Given the description of an element on the screen output the (x, y) to click on. 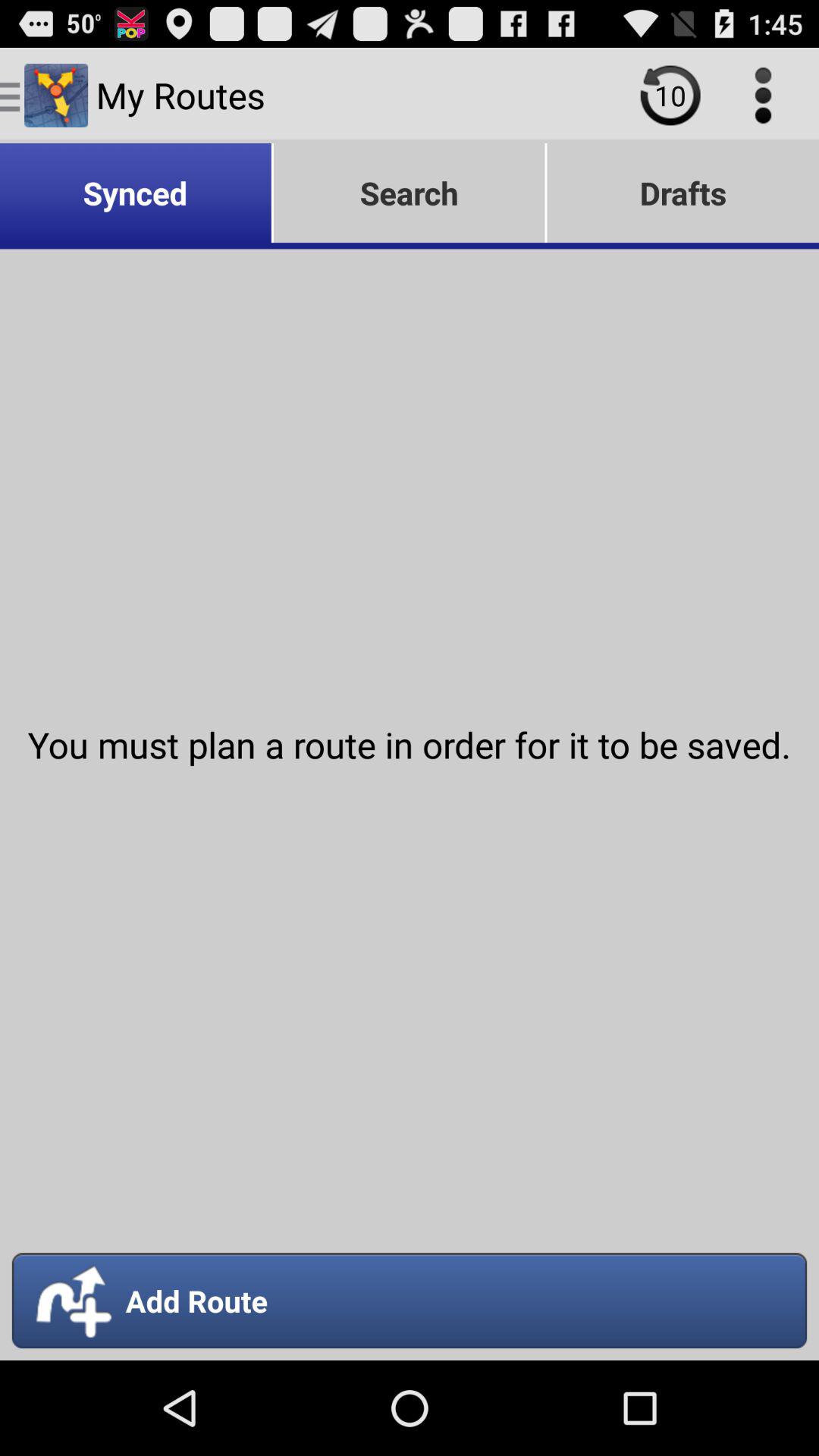
select icon above drafts icon (670, 95)
